Given the description of an element on the screen output the (x, y) to click on. 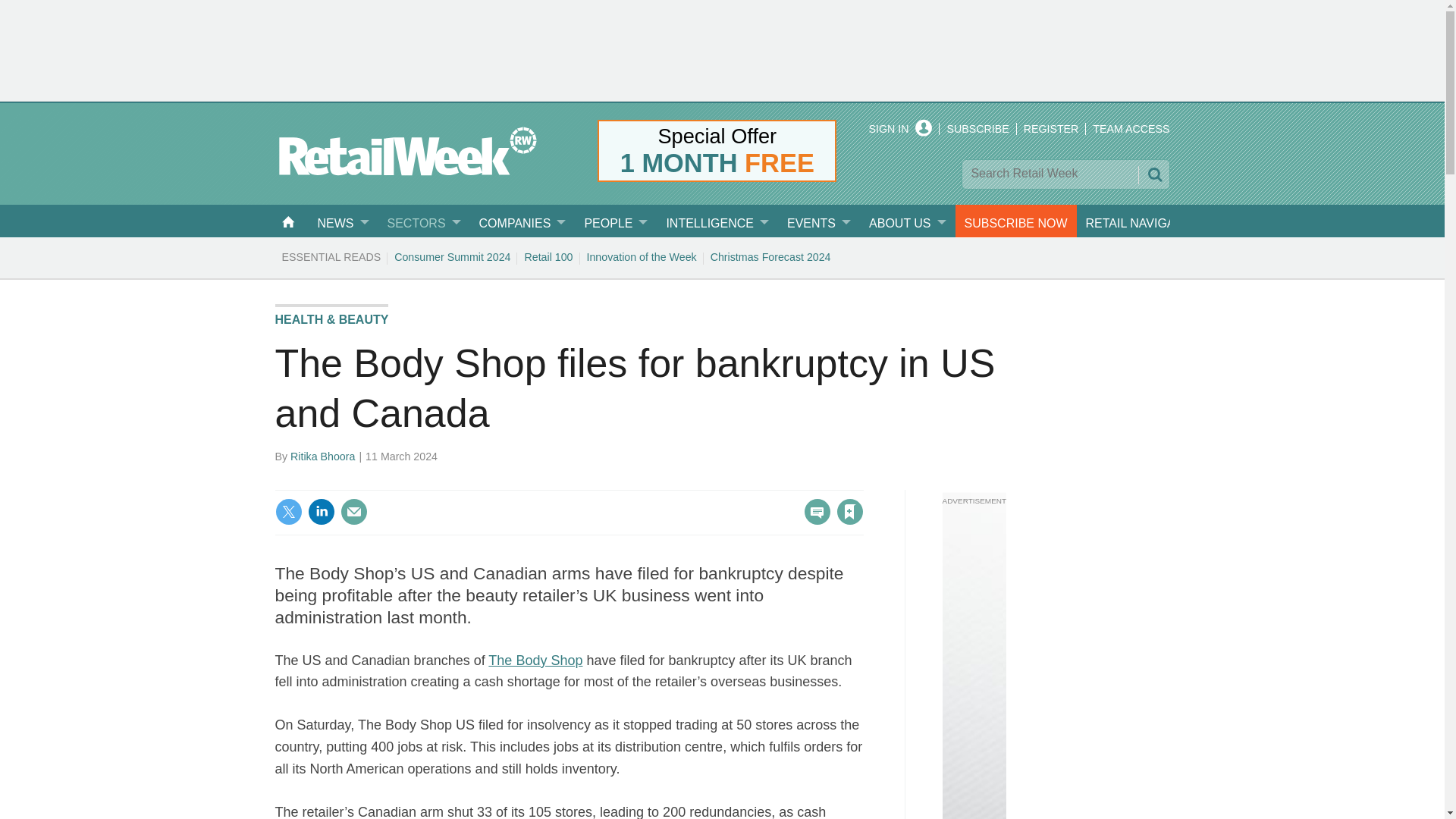
Consumer Summit 2024 (451, 256)
Christmas Forecast 2024 (770, 256)
Share this on Twitter (288, 511)
SIGN IN (901, 128)
SEARCH (1153, 174)
Share this on Linked in (320, 511)
No comments (812, 520)
TEAM ACCESS (1131, 128)
Email this article (352, 511)
Retail 100 (547, 256)
